Given the description of an element on the screen output the (x, y) to click on. 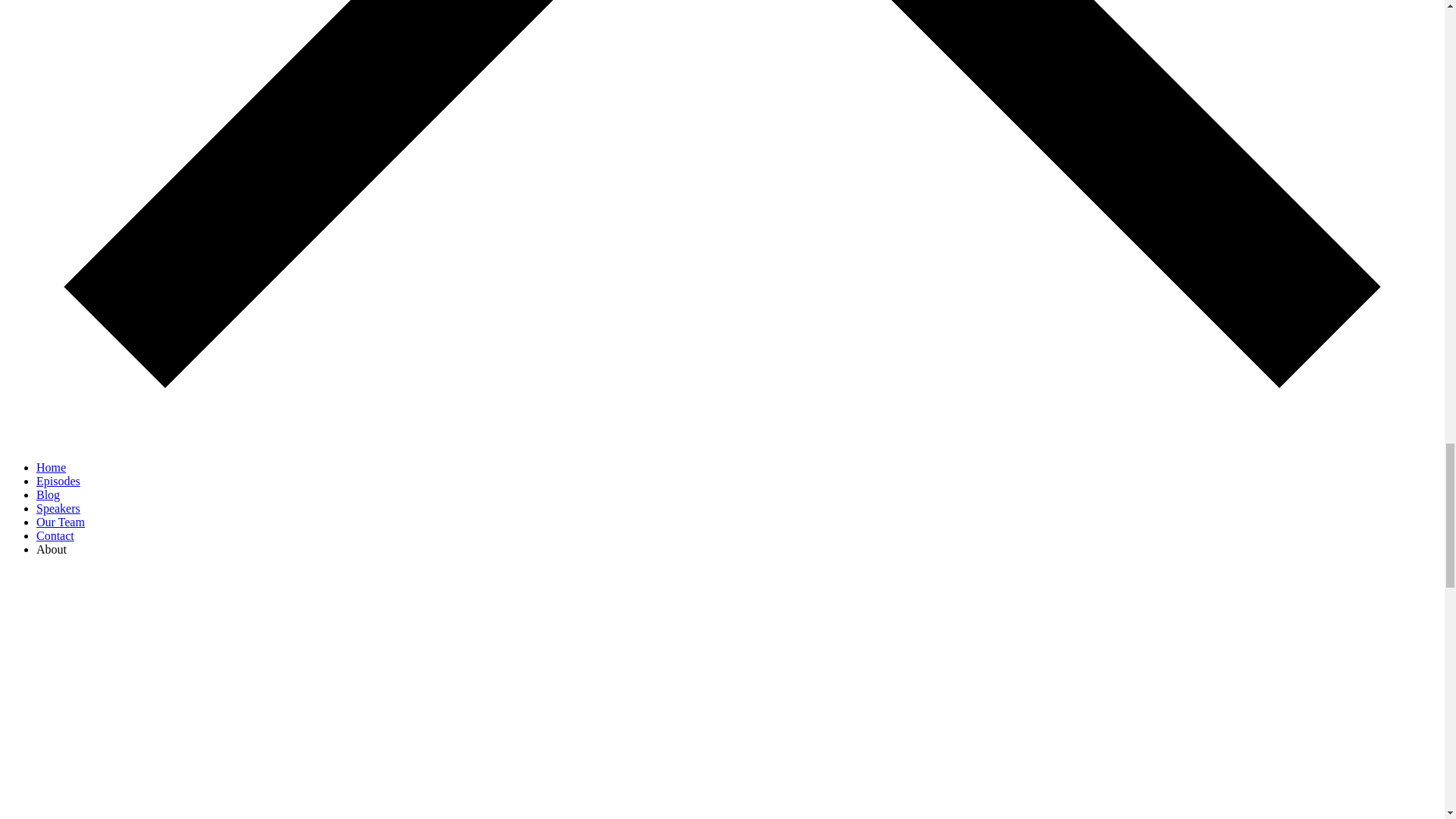
Contact (55, 535)
Blog (47, 494)
Home (50, 467)
Speakers (58, 508)
Episodes (58, 481)
Our Team (60, 521)
